Given the description of an element on the screen output the (x, y) to click on. 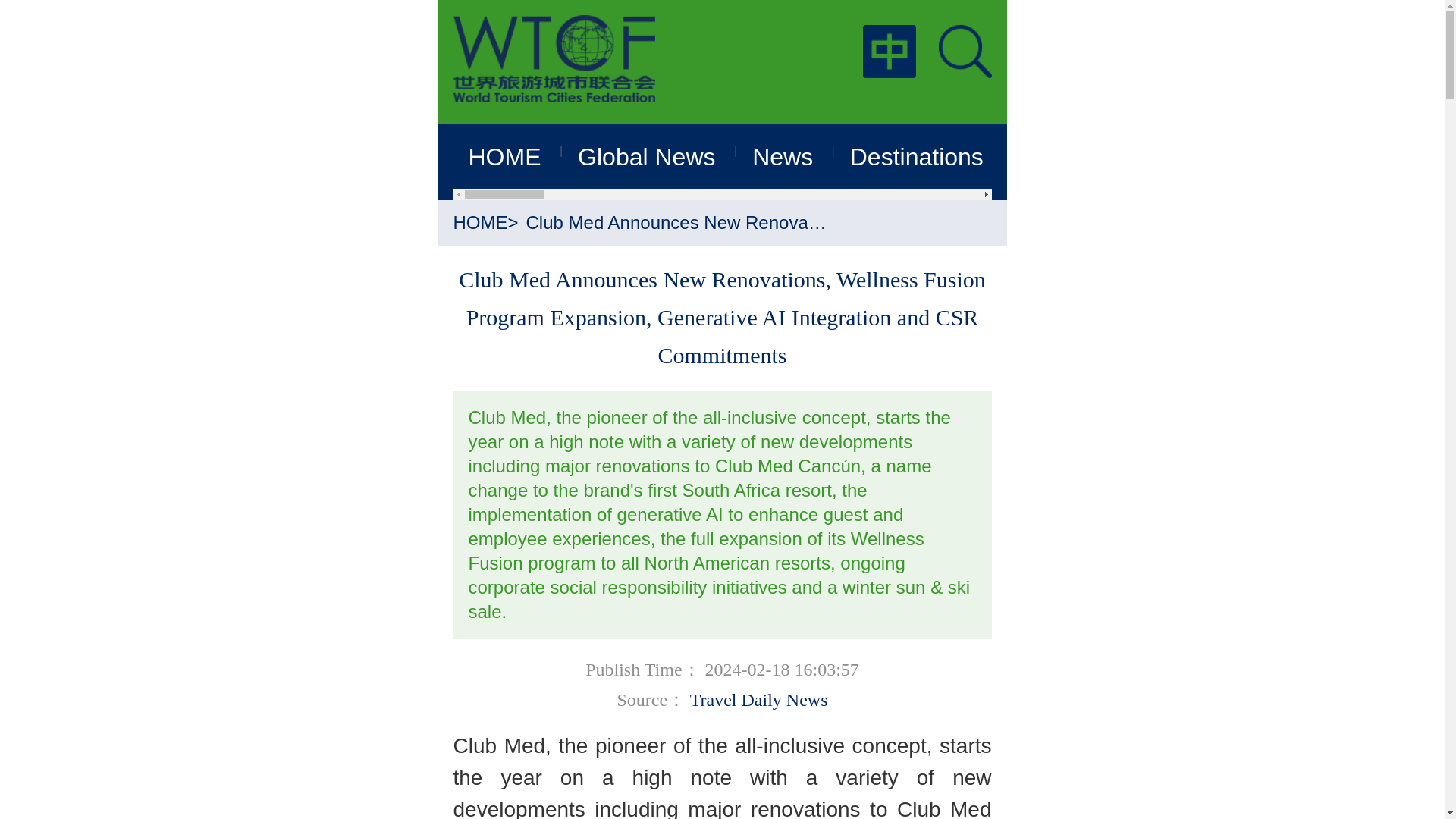
HOME (480, 222)
Destinations (917, 156)
HOME (504, 156)
Global News (646, 156)
City Members (1094, 156)
News (782, 156)
